Given the description of an element on the screen output the (x, y) to click on. 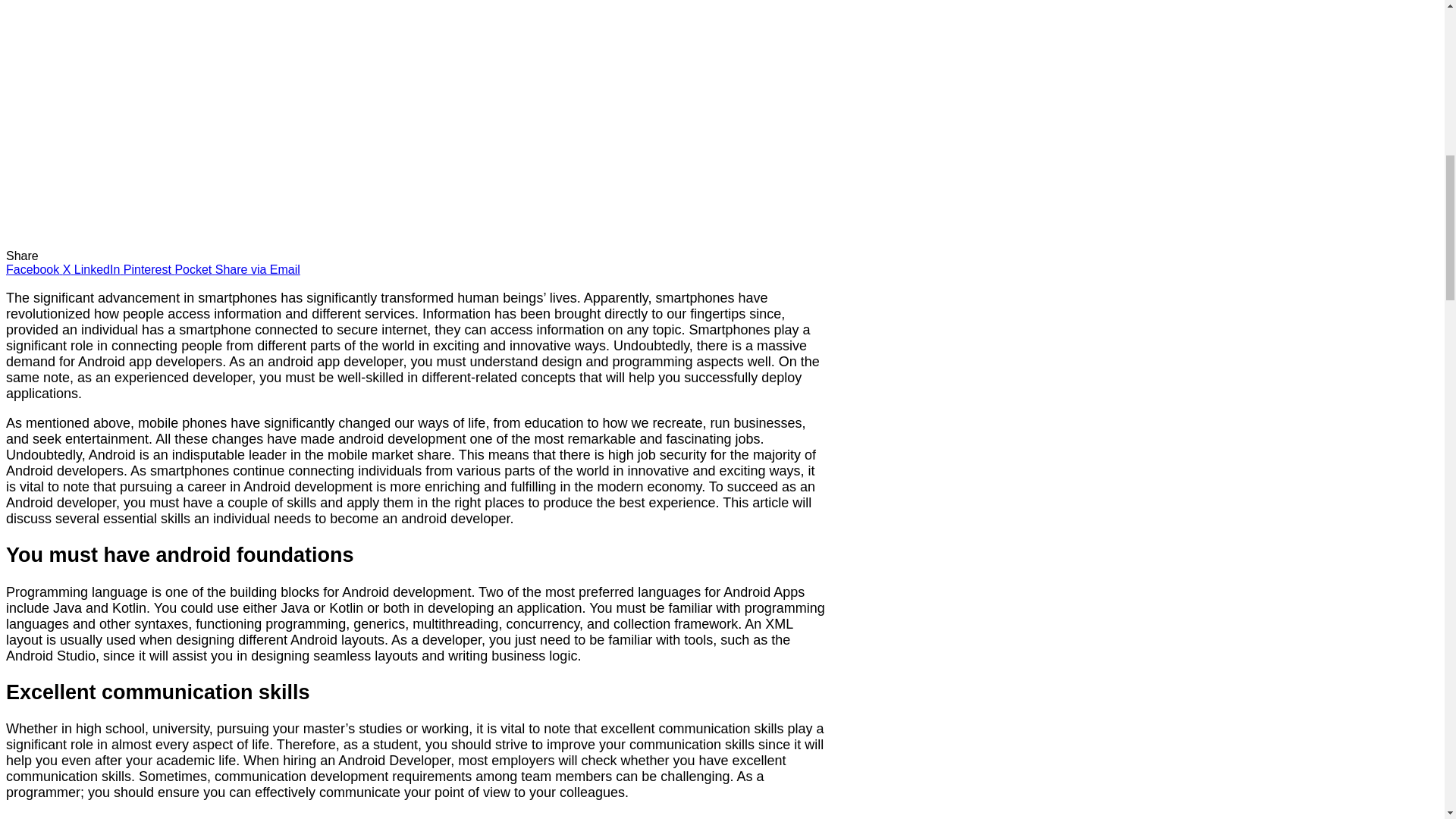
LinkedIn (98, 269)
Share via Email (257, 269)
LinkedIn (98, 269)
Share via Email (257, 269)
Facebook (33, 269)
Facebook (33, 269)
X (68, 269)
X (68, 269)
Pocket (194, 269)
Pinterest (148, 269)
Pocket (194, 269)
Pinterest (148, 269)
